Given the description of an element on the screen output the (x, y) to click on. 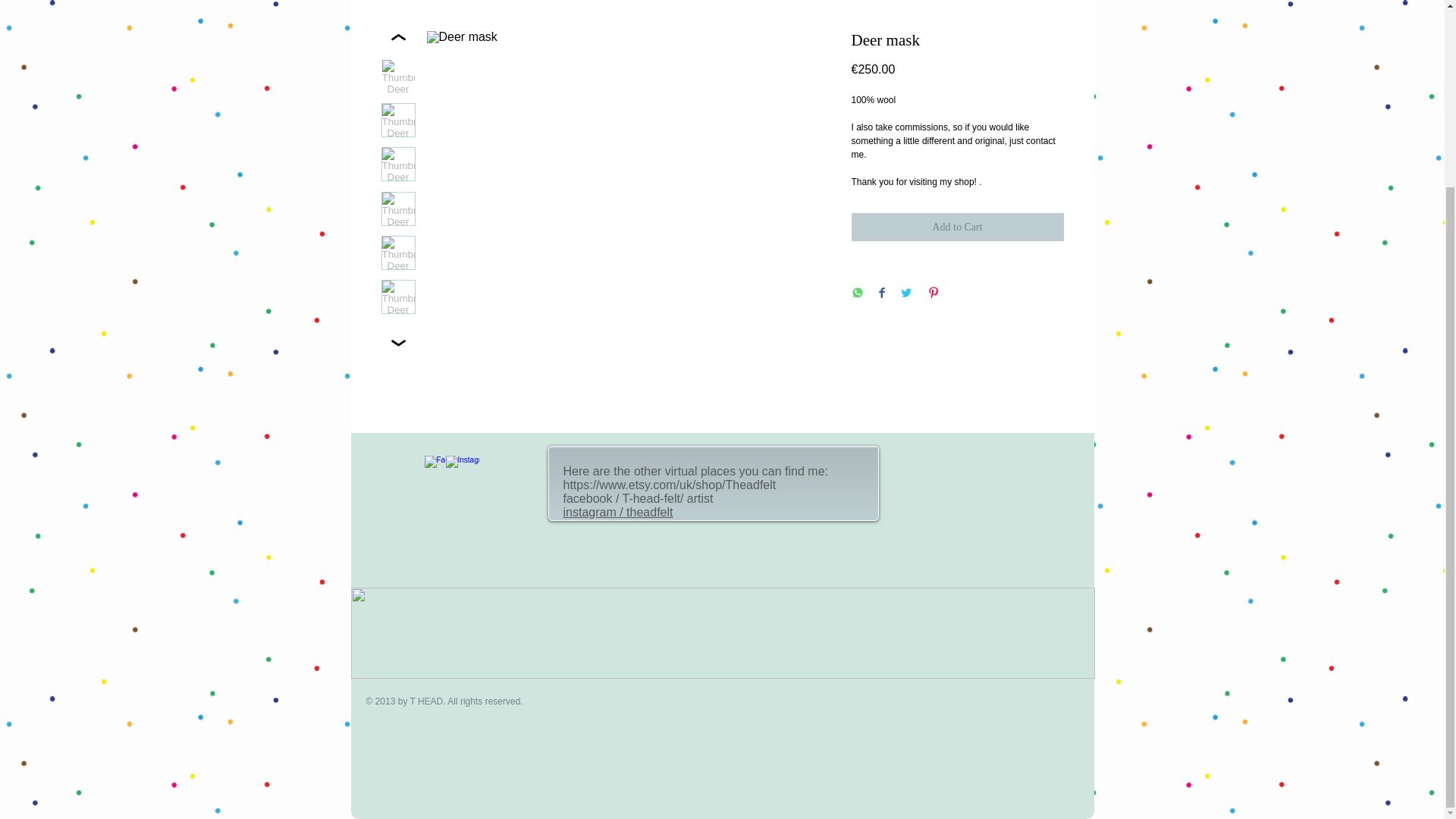
Add to Cart (956, 226)
